Given the description of an element on the screen output the (x, y) to click on. 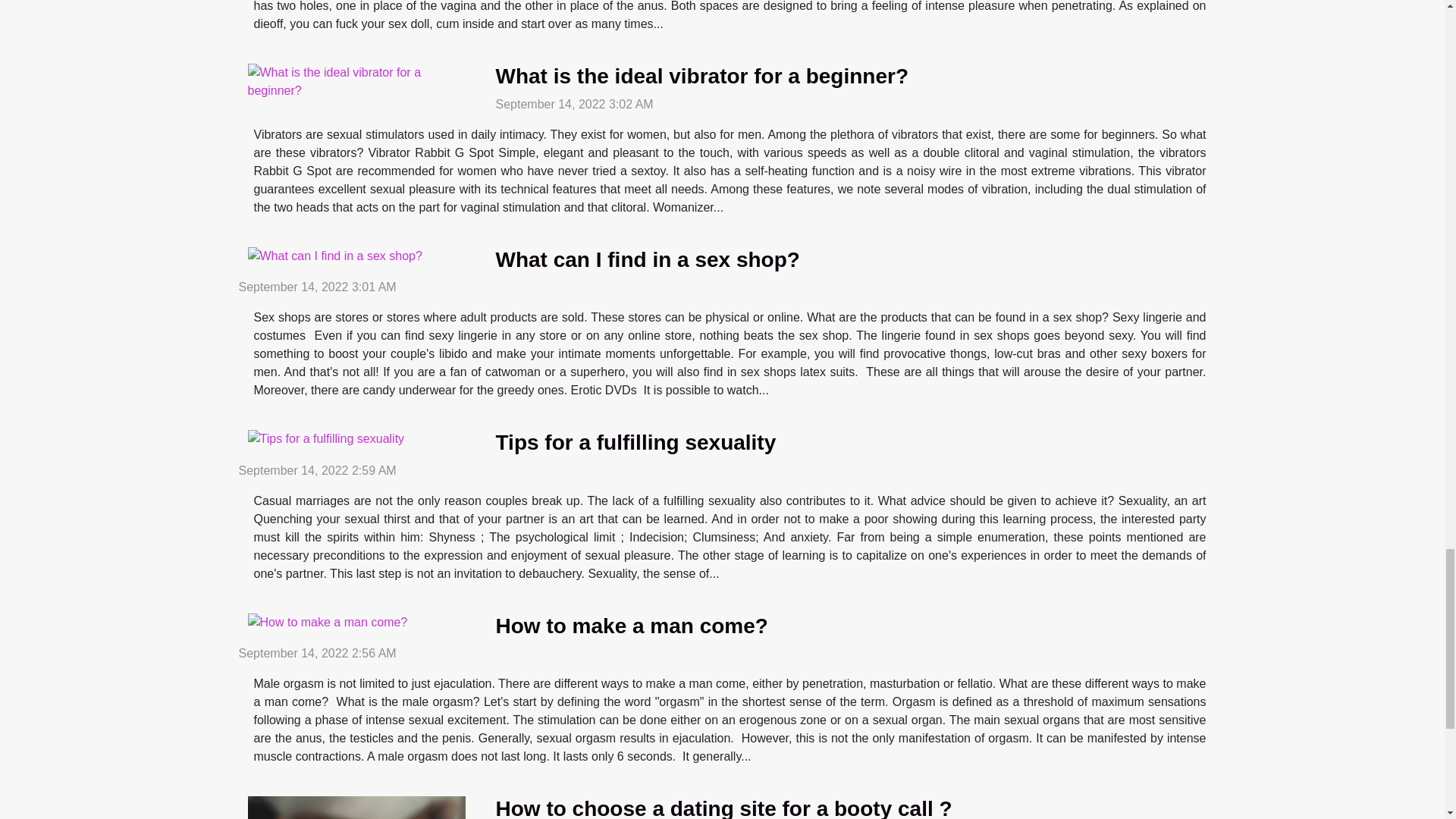
Tips for a fulfilling sexuality (636, 442)
What is the ideal vibrator for a beginner? (702, 75)
What can I find in a sex shop? (647, 259)
What can I find in a sex shop? (647, 259)
How to make a man come? (632, 626)
What is the ideal vibrator for a beginner? (702, 75)
